Given the description of an element on the screen output the (x, y) to click on. 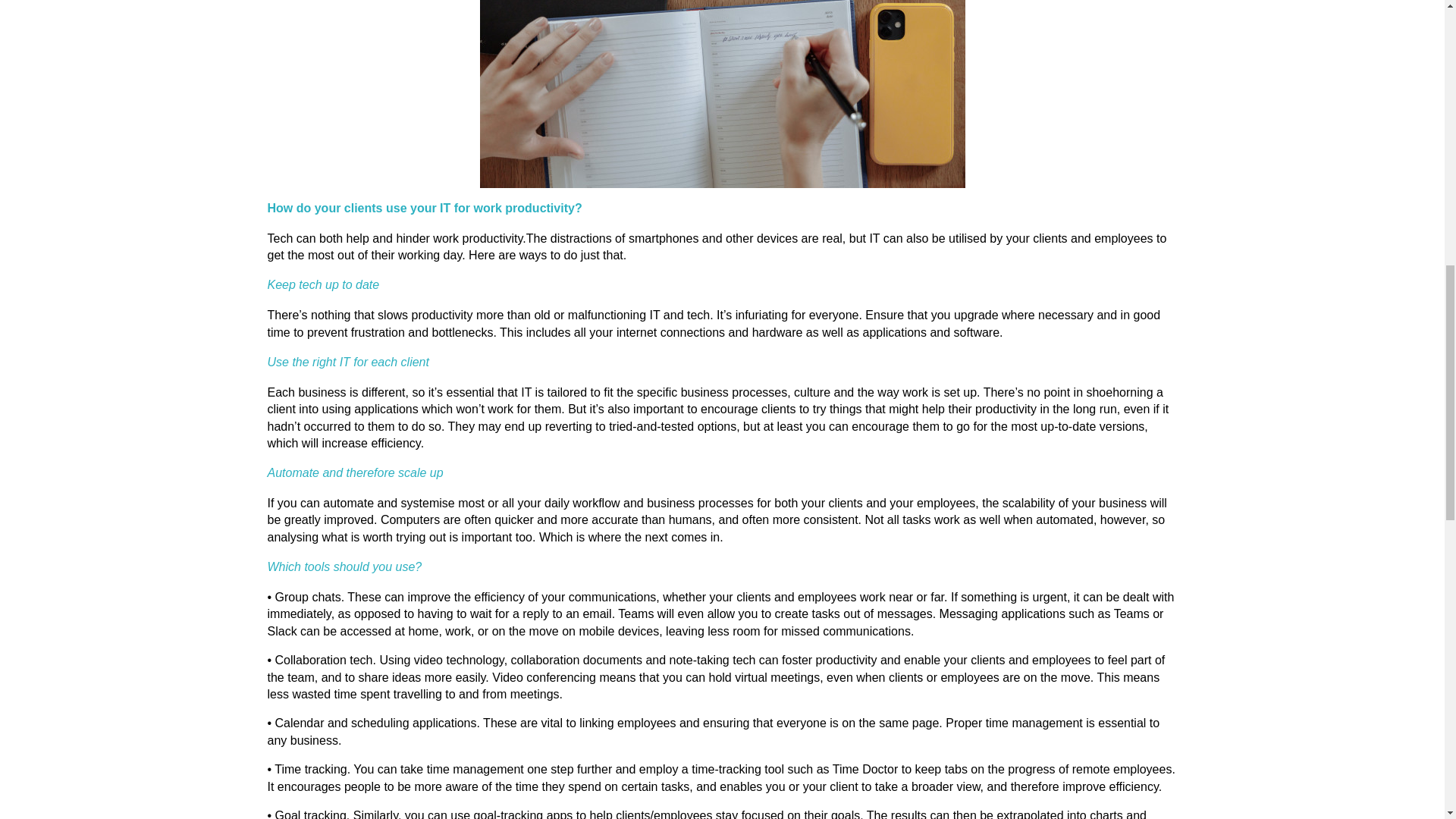
pexels-thirdman-5592496 (721, 94)
